Given the description of an element on the screen output the (x, y) to click on. 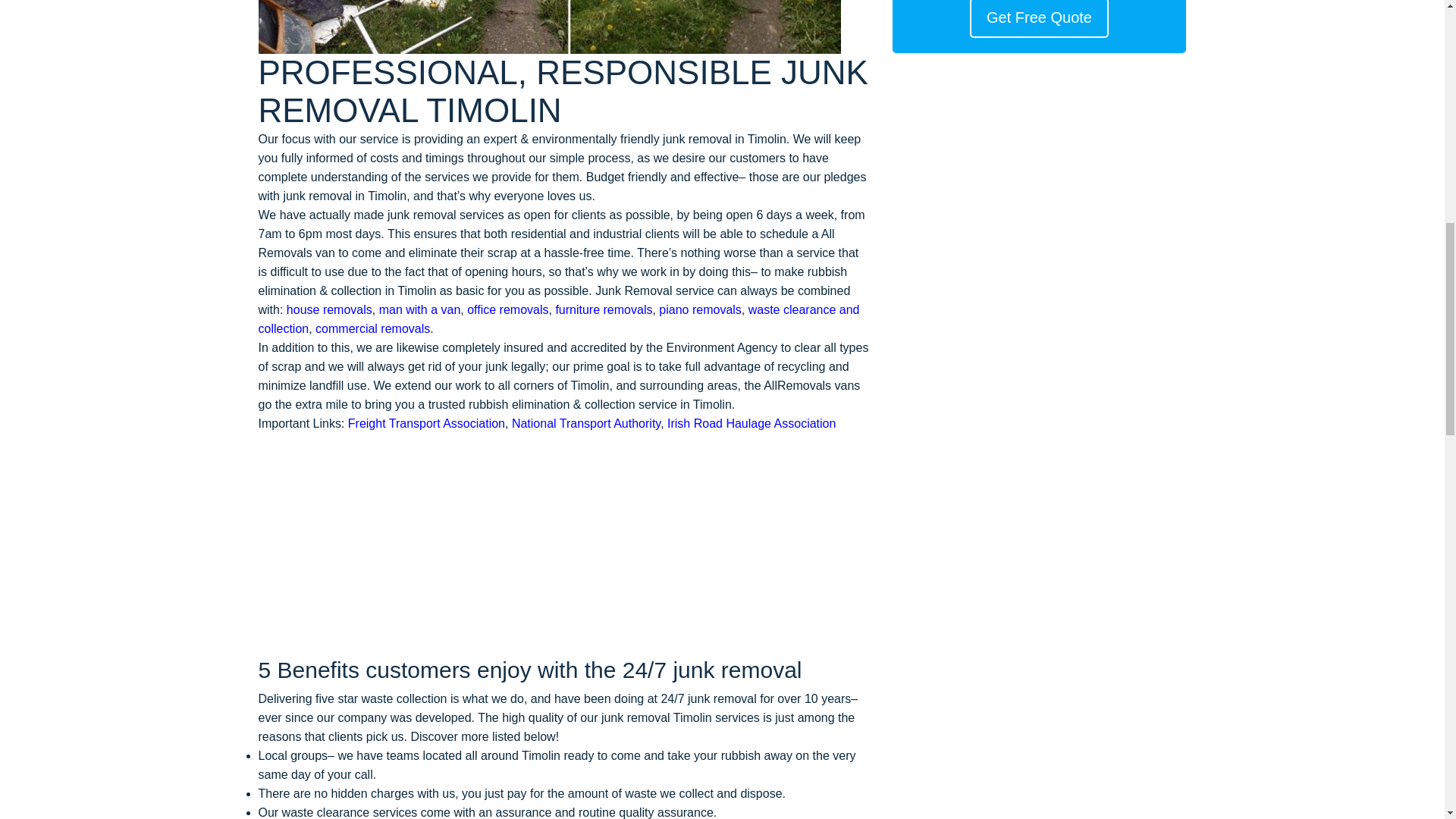
man with a van (419, 309)
Junk Removal Timolin 3 (548, 27)
commercial removals (372, 328)
Irish Road Haulage Association (750, 422)
Freight Transport Association (426, 422)
house removals (329, 309)
office removals (507, 309)
piano removals (700, 309)
National Transport Authority (586, 422)
furniture removals (603, 309)
waste clearance and collection (558, 318)
Get Free Quote (1038, 18)
